Given the description of an element on the screen output the (x, y) to click on. 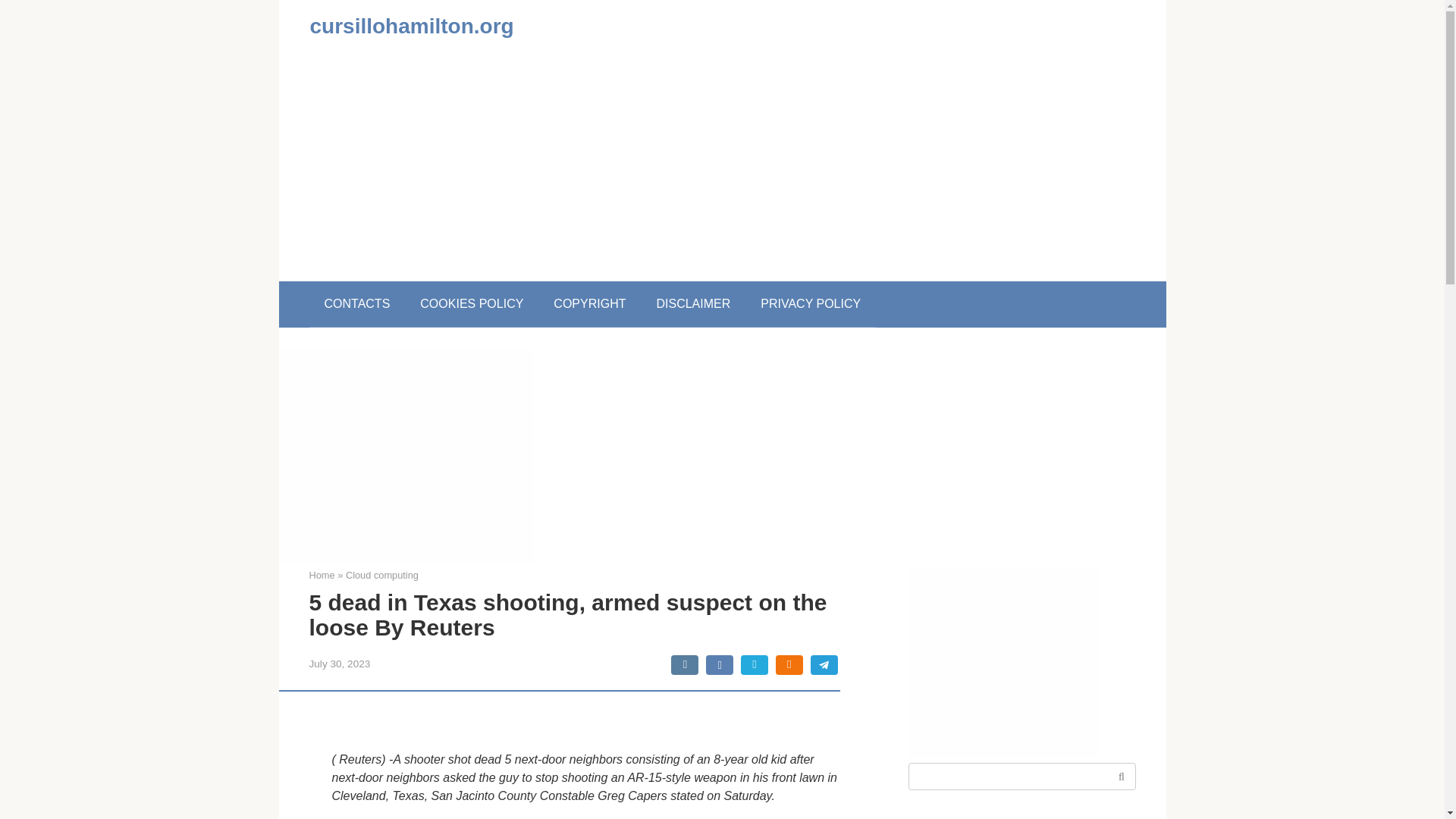
COPYRIGHT (589, 303)
cursillohamilton.org (410, 25)
CONTACTS (357, 303)
DISCLAIMER (692, 303)
Home (321, 574)
Cloud computing (382, 574)
PRIVACY POLICY (810, 303)
COOKIES POLICY (471, 303)
